Given the description of an element on the screen output the (x, y) to click on. 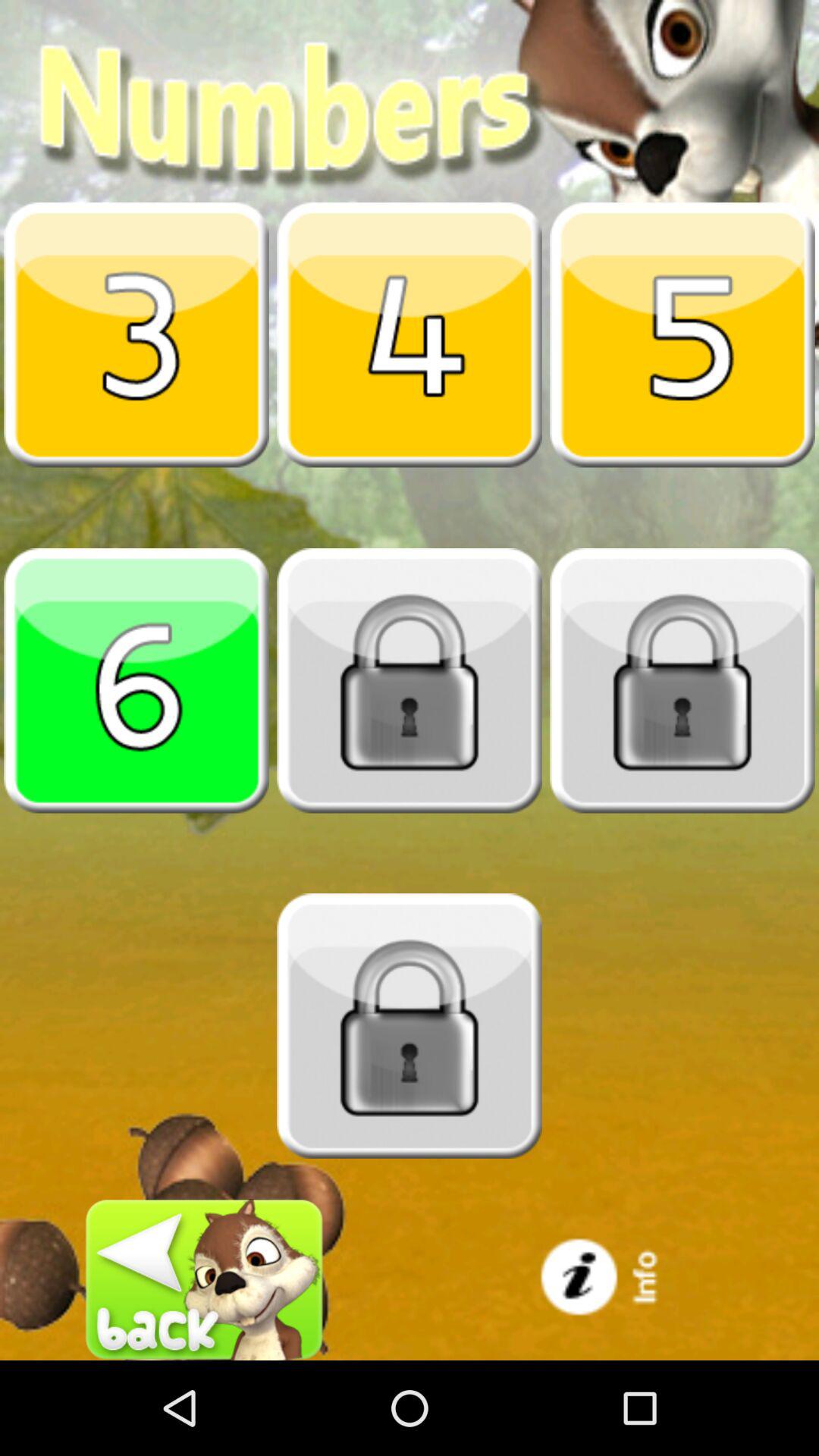
select number (136, 334)
